Given the description of an element on the screen output the (x, y) to click on. 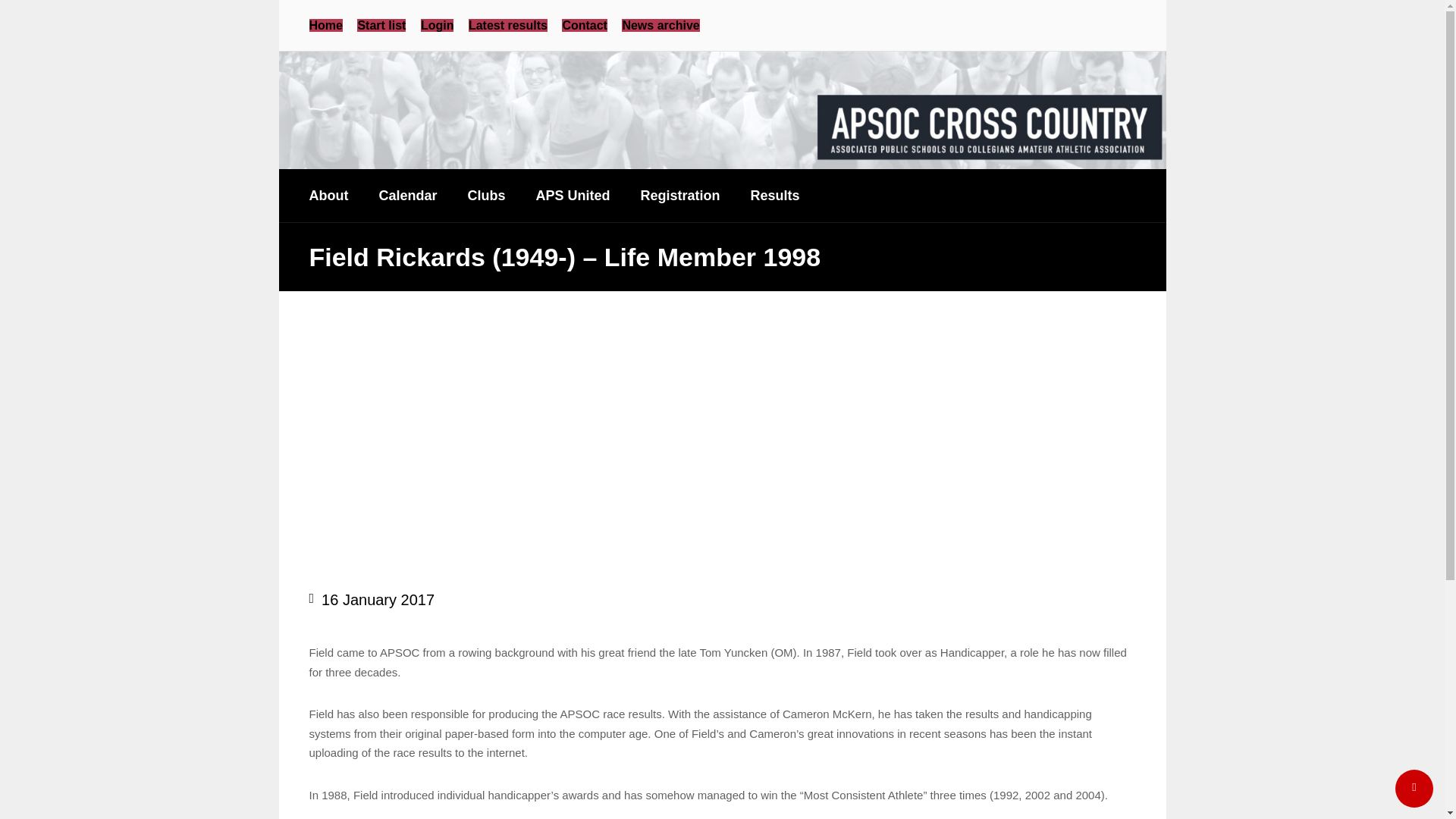
News archive (659, 24)
Latest results (507, 24)
Login (437, 24)
Start list (381, 24)
Home (325, 24)
Results (775, 194)
About (329, 194)
Contact (584, 24)
Calendar (406, 194)
Registration (680, 194)
